Given the description of an element on the screen output the (x, y) to click on. 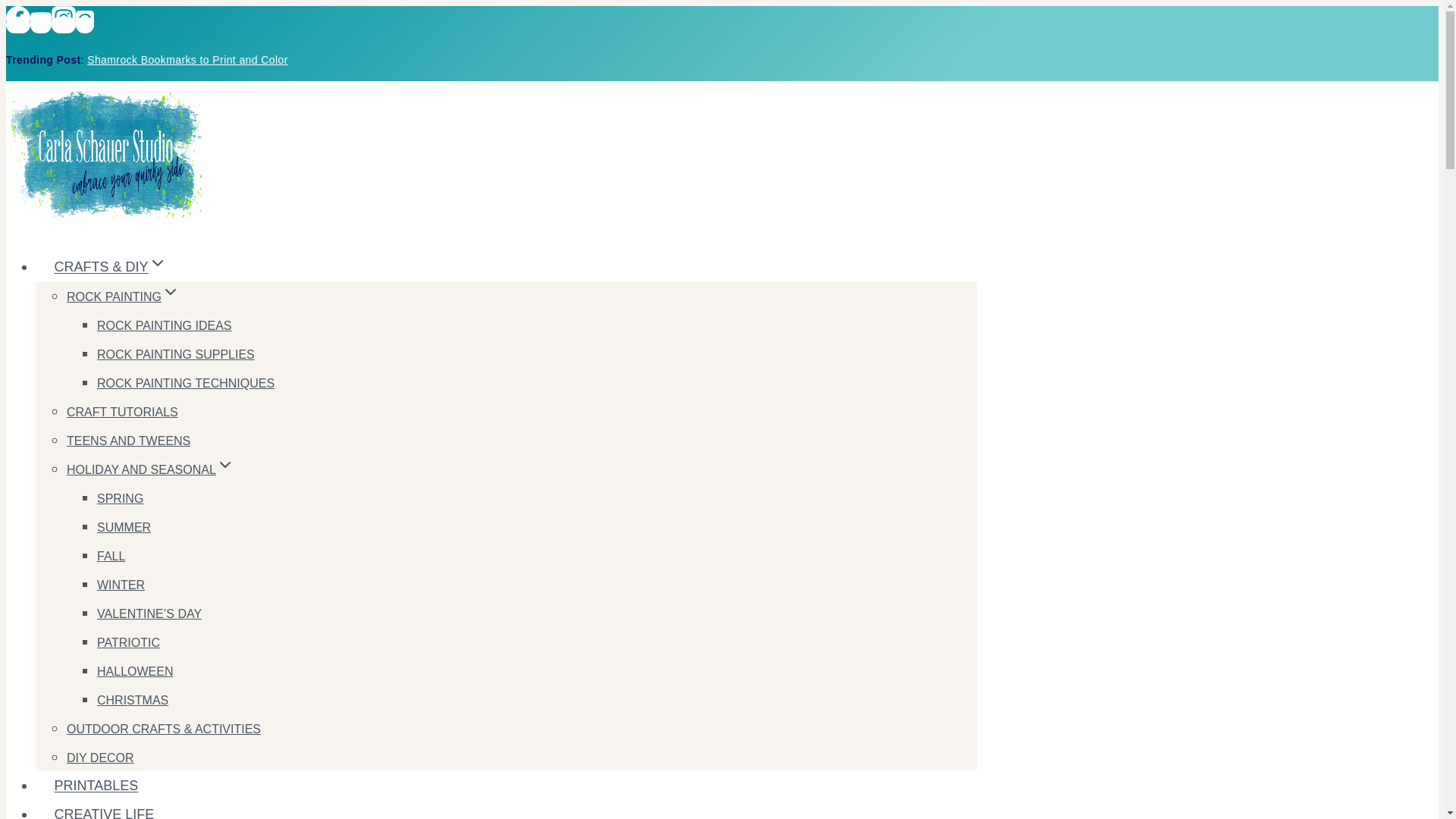
SPRING (119, 497)
SUMMER (124, 526)
ROCK PAINTING IDEAS (164, 325)
Shamrock Bookmarks to Print and Color (187, 60)
Instagram (62, 17)
EXPAND (224, 464)
CHRISTMAS (132, 699)
PATRIOTIC (128, 642)
Facebook (17, 24)
Instagram (62, 24)
